Given the description of an element on the screen output the (x, y) to click on. 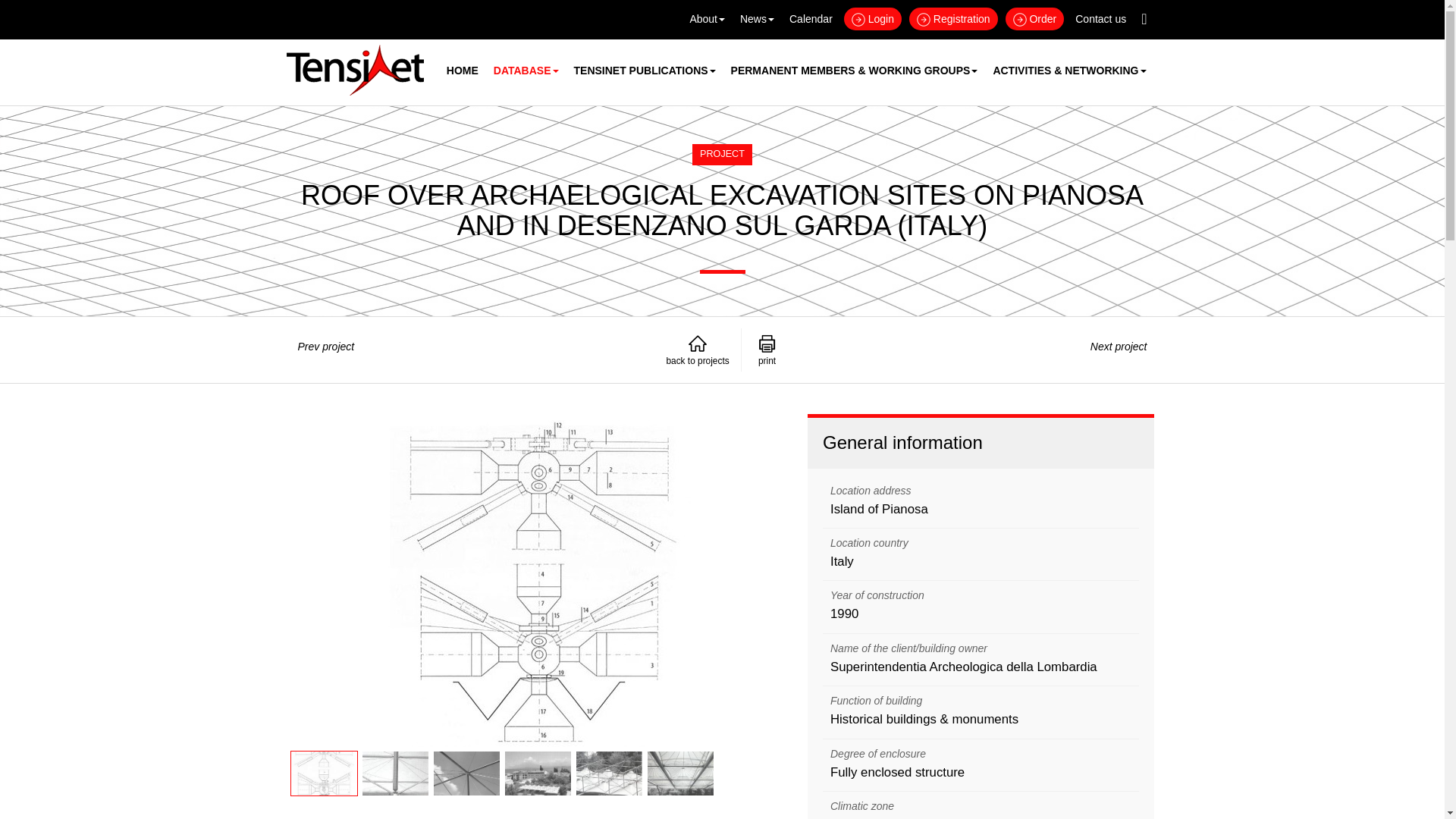
TENSINET PUBLICATIONS (644, 69)
HOME (462, 69)
 Registration (952, 18)
contact us (1100, 18)
News (756, 18)
About (706, 18)
Contact us (1100, 18)
DATABASE (526, 69)
 Order (1035, 18)
 Login (872, 18)
Calendar (810, 18)
